Given the description of an element on the screen output the (x, y) to click on. 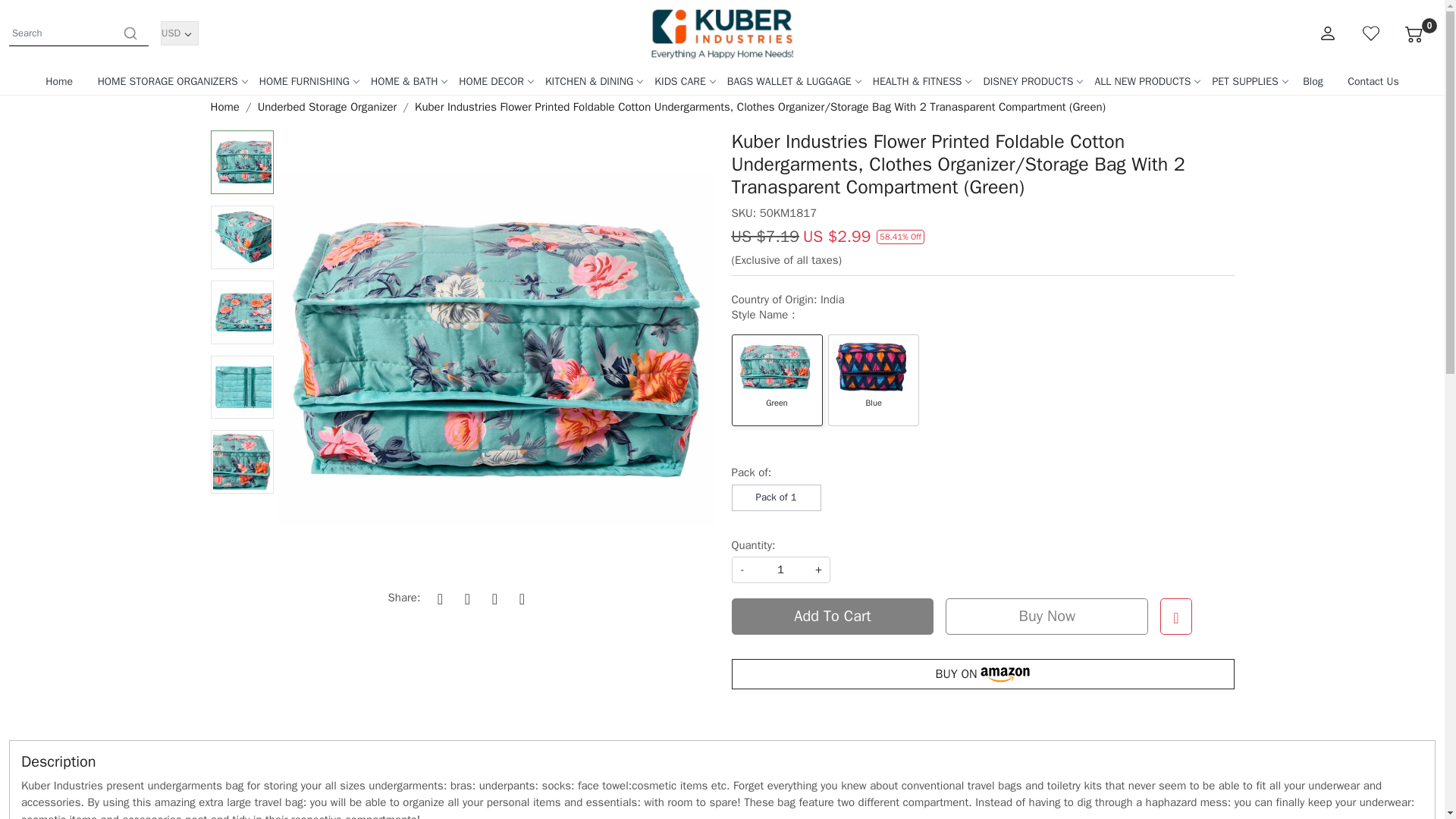
1 (779, 569)
0 (1414, 33)
Home (721, 33)
search (129, 32)
Home (58, 80)
Shopping Bag (1414, 33)
HOME STORAGE ORGANIZERS (167, 80)
